Given the description of an element on the screen output the (x, y) to click on. 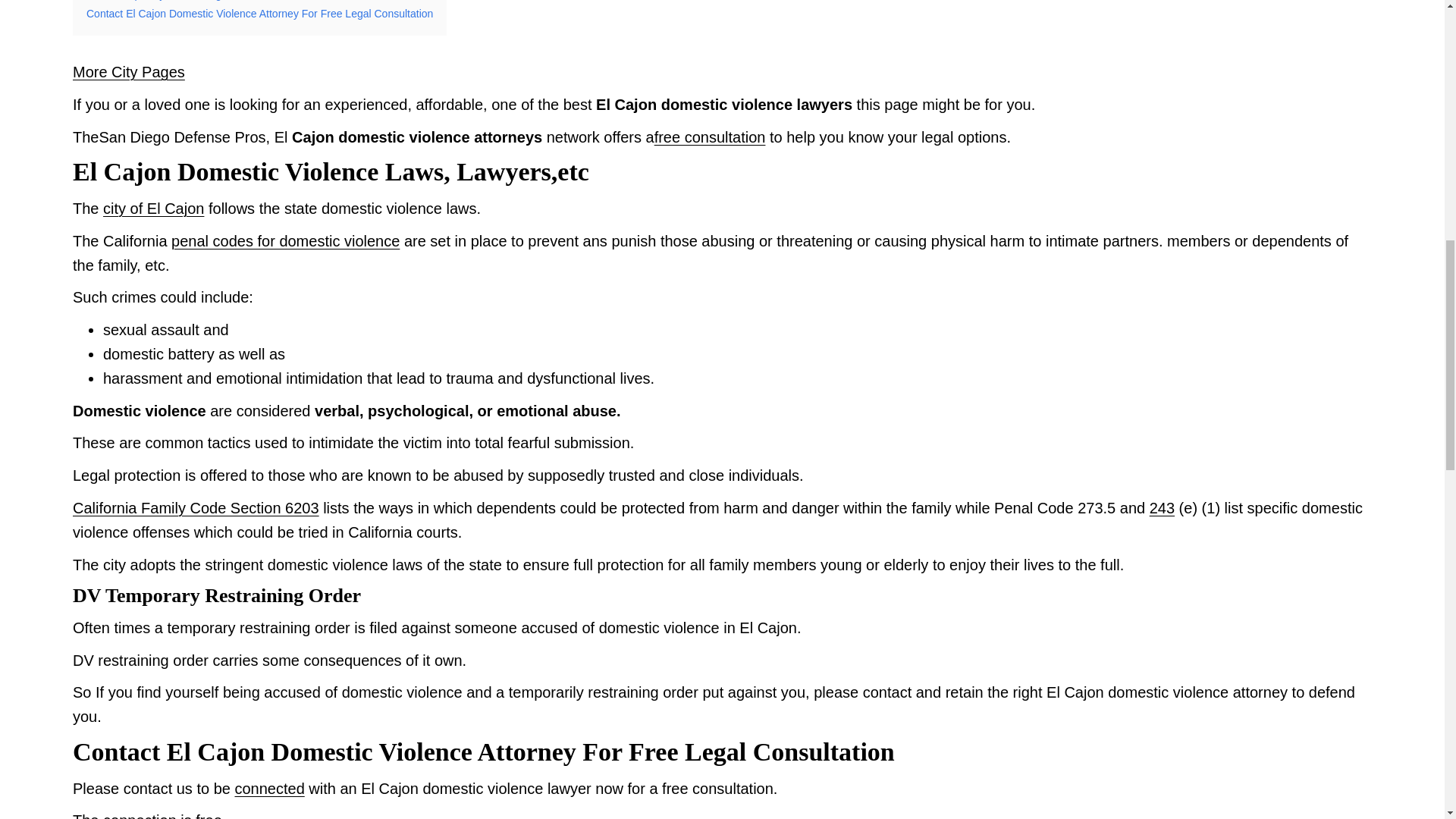
city of El Cajon (153, 208)
More City Pages (128, 71)
DV Temporary Restraining Order (174, 1)
free consultation (709, 137)
